Given the description of an element on the screen output the (x, y) to click on. 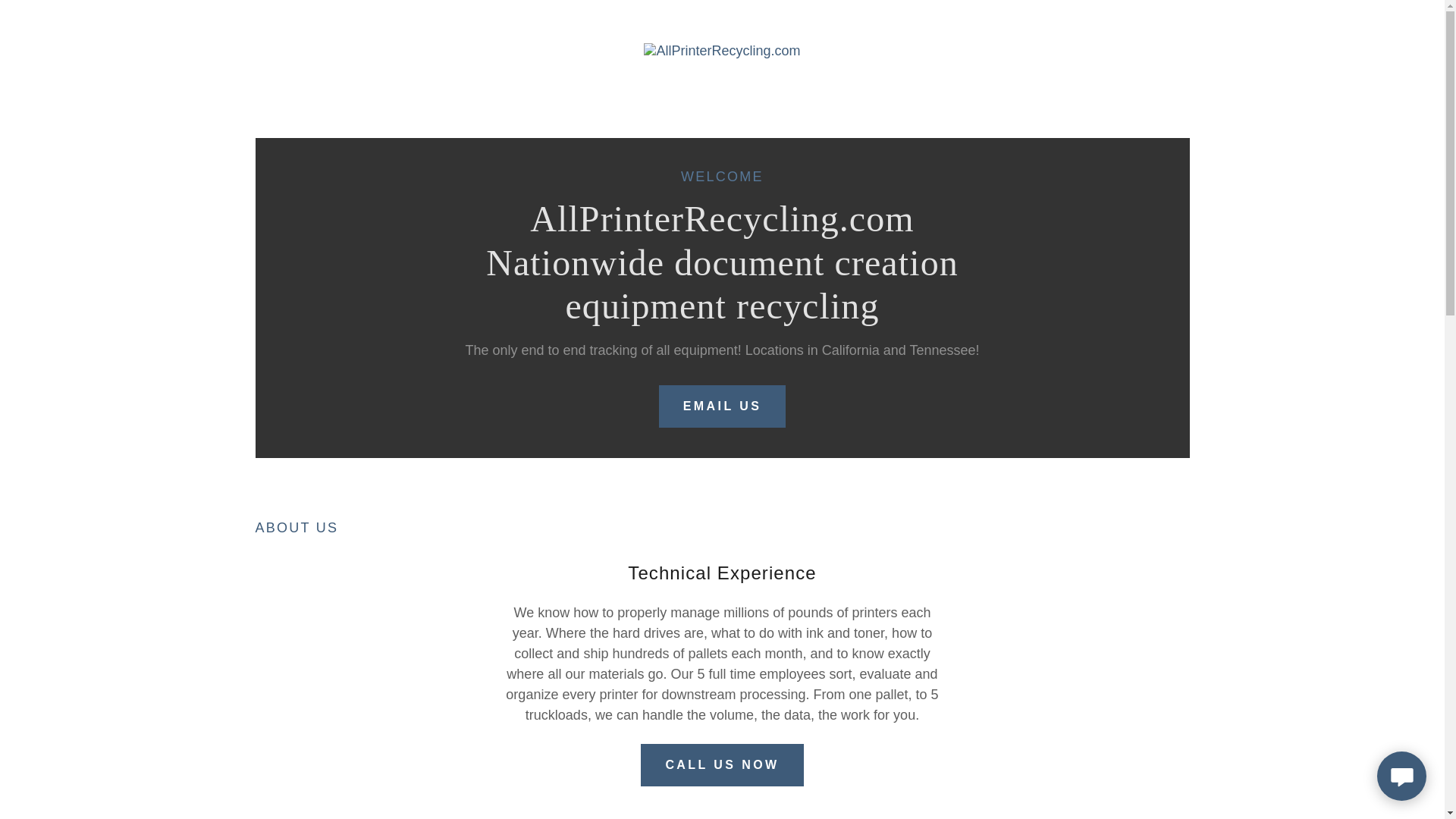
AllPrinterRecycling.com (721, 49)
EMAIL US (722, 405)
CALL US NOW (721, 764)
